Given the description of an element on the screen output the (x, y) to click on. 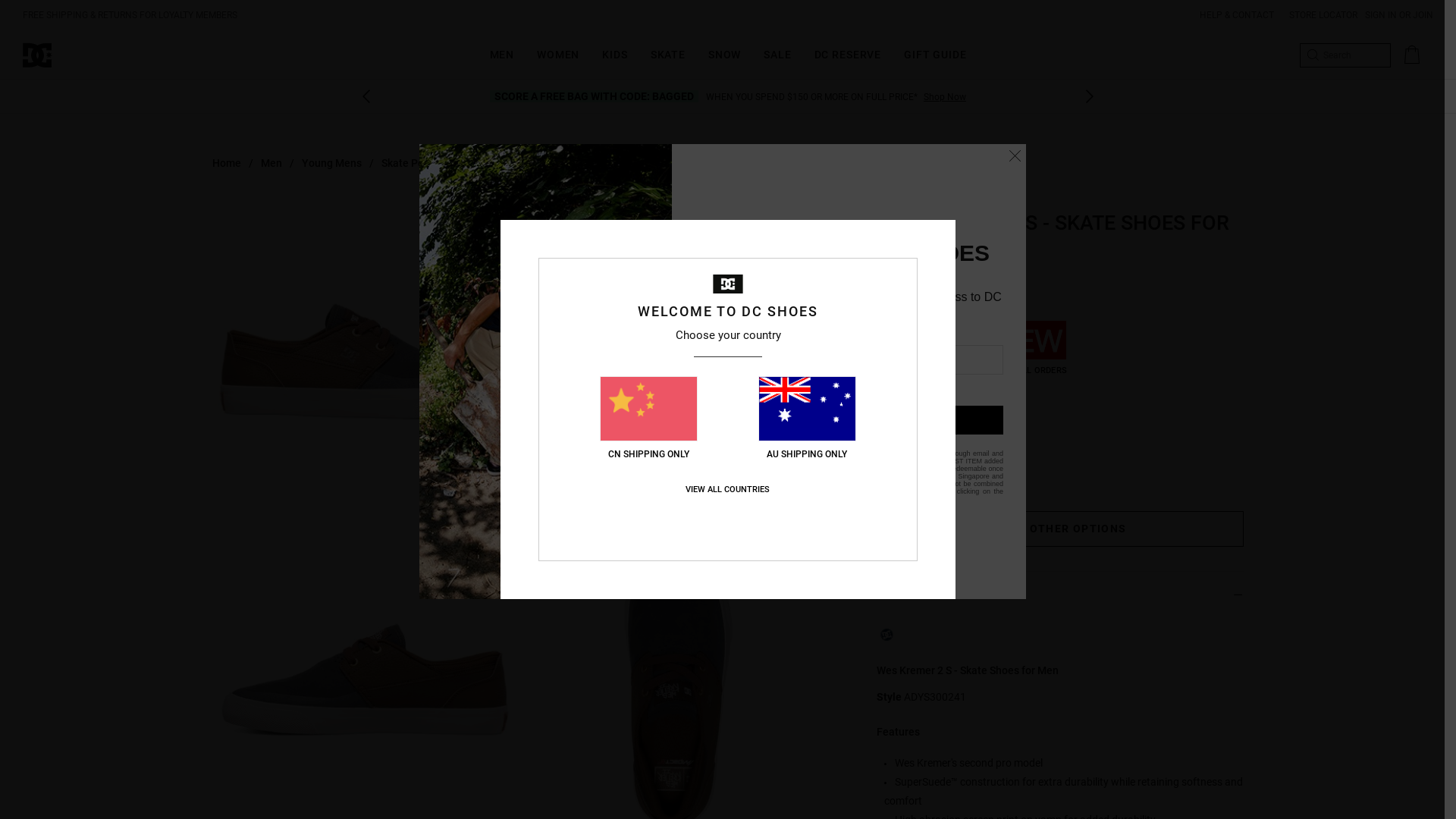
DC Shoes Element type: hover (64, 54)
Footwear Element type: text (516, 162)
VIEW ALL COUNTRIES Element type: text (727, 489)
Details & Features Element type: text (1059, 594)
CN SHIPPING ONLY Element type: text (648, 418)
Home Element type: text (226, 162)
AU SHIPPING ONLY Element type: text (807, 418)
SKATE Element type: text (667, 49)
Vulcanized Shoe Element type: text (648, 162)
Join Now Element type: text (837, 96)
Sign In Element type: text (882, 96)
DC RESERVE Element type: text (847, 49)
KIDS Element type: text (614, 49)
SNOW Element type: text (724, 49)
Men Element type: text (271, 162)
Skip to Product Information Element type: text (0, 0)
SALE Element type: text (776, 49)
Skate Performance Element type: text (427, 162)
Young Mens Element type: text (331, 162)
STORE LOCATOR Element type: text (1315, 15)
GIFT GUIDE Element type: text (934, 49)
Wes Kremer 2 S - Skate Shoes for Men ADYS300241 Element type: hover (678, 351)
MEN Element type: text (501, 49)
Cart Element type: hover (1411, 54)
Shoes Element type: text (573, 162)
Wes Kremer 2 S - Skate Shoes for Men ADYS300241 Element type: hover (364, 351)
SIGN IN OR JOIN Element type: text (1399, 15)
HELP & CONTACT Element type: text (1236, 15)
WOMEN Element type: text (557, 49)
SUBSCRIBE Element type: text (848, 419)
